Given the description of an element on the screen output the (x, y) to click on. 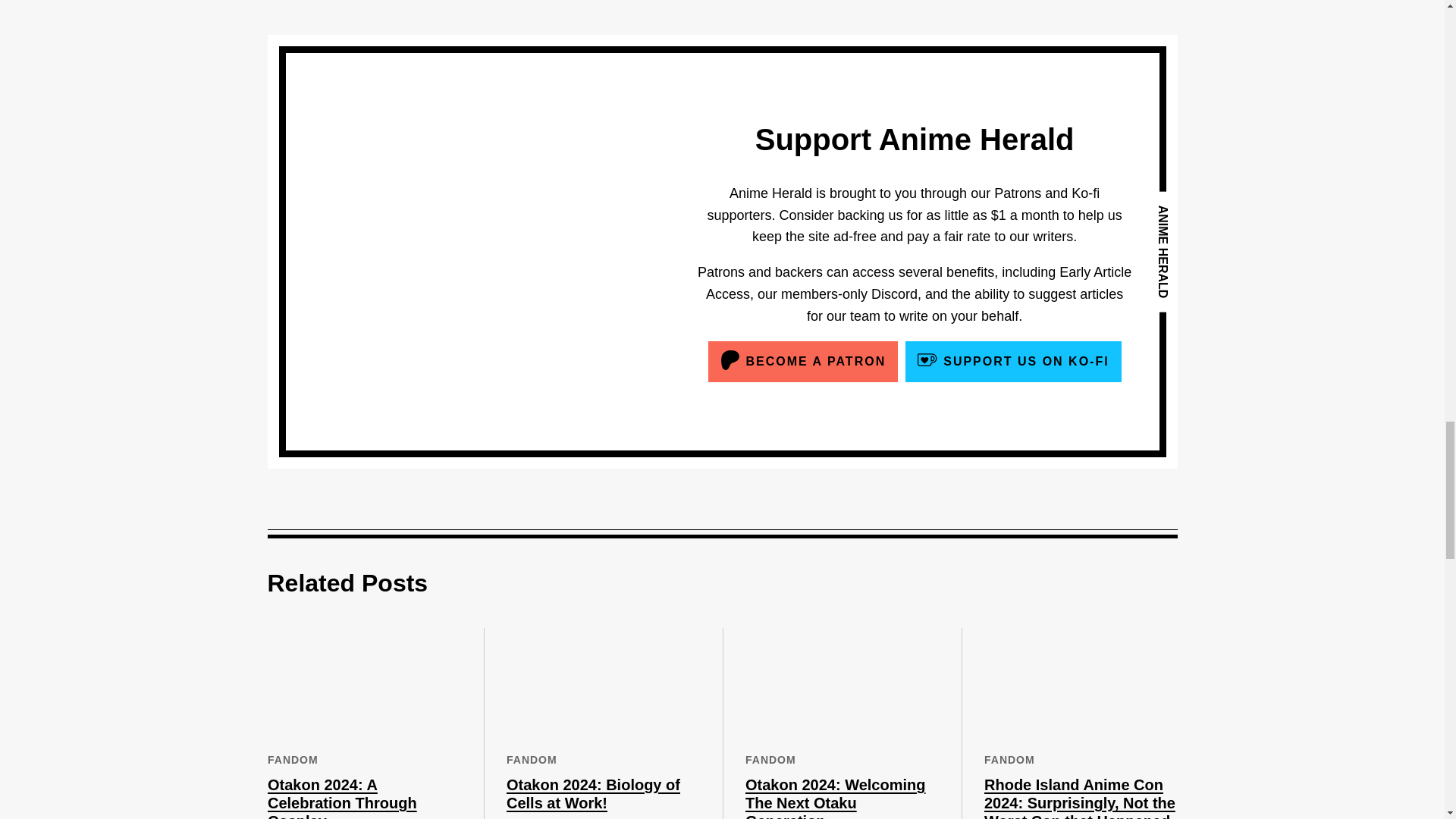
SUPPORT US ON KO-FI (1013, 361)
BECOME A PATRON (802, 361)
Otakon 2024: A Celebration Through Cosplay (341, 797)
